Given the description of an element on the screen output the (x, y) to click on. 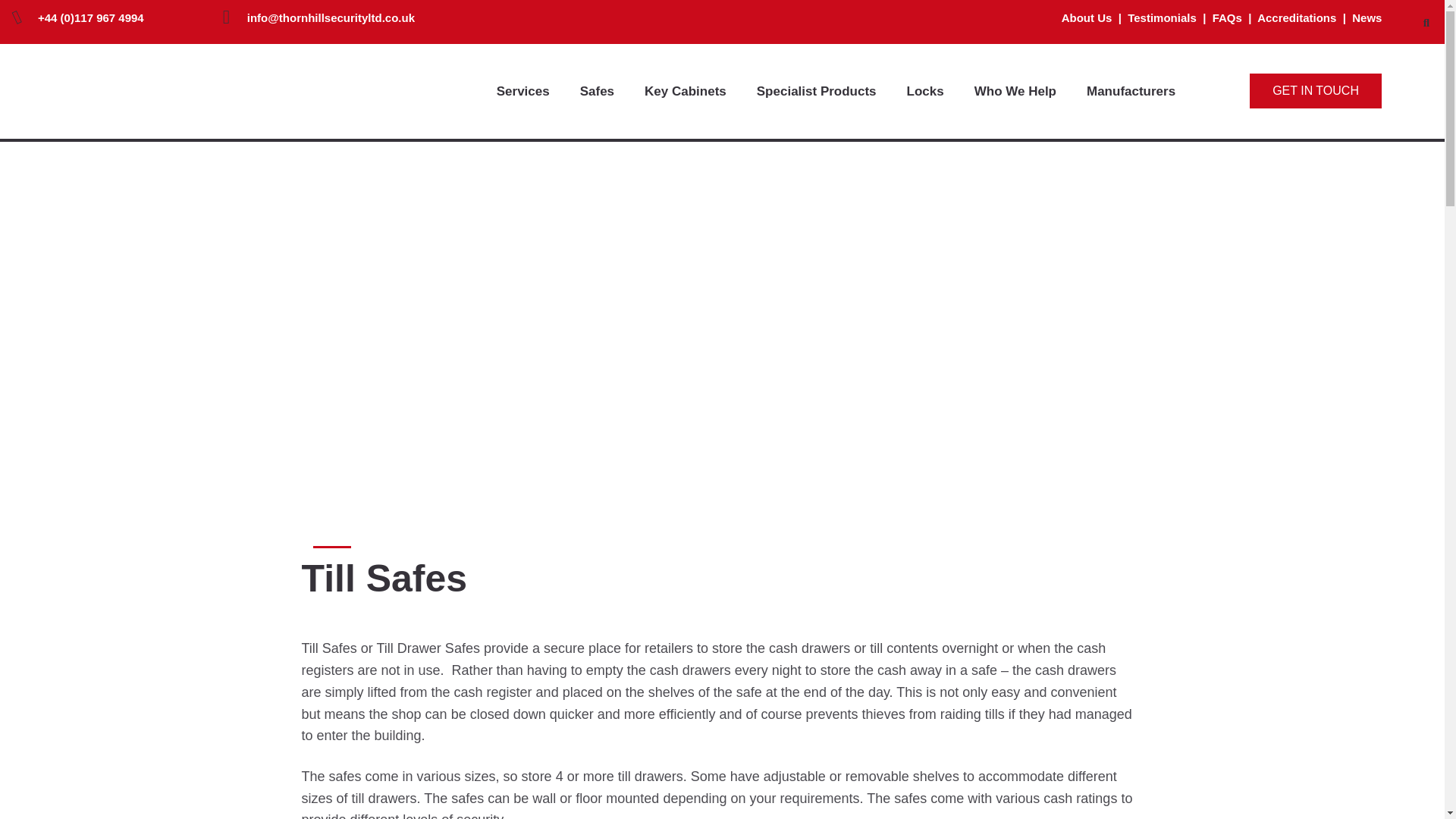
Services (526, 90)
News (1366, 17)
FAQs (1226, 17)
Accreditations  (1298, 17)
Specialist Products (820, 90)
Key Cabinets (689, 90)
Safes (601, 90)
Testimonials (1161, 17)
About Us (1086, 17)
